Given the description of an element on the screen output the (x, y) to click on. 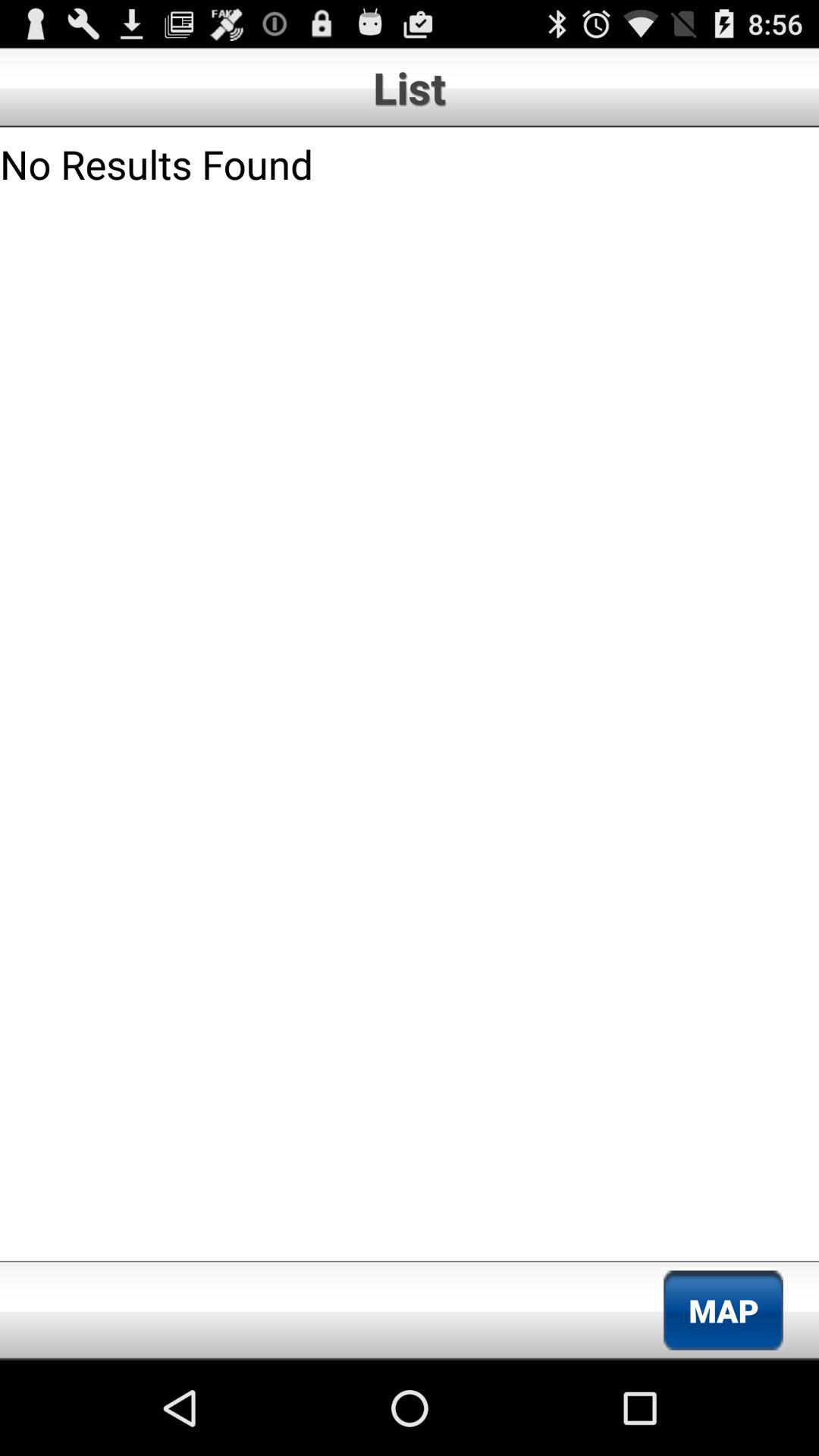
scroll to the map (723, 1310)
